Given the description of an element on the screen output the (x, y) to click on. 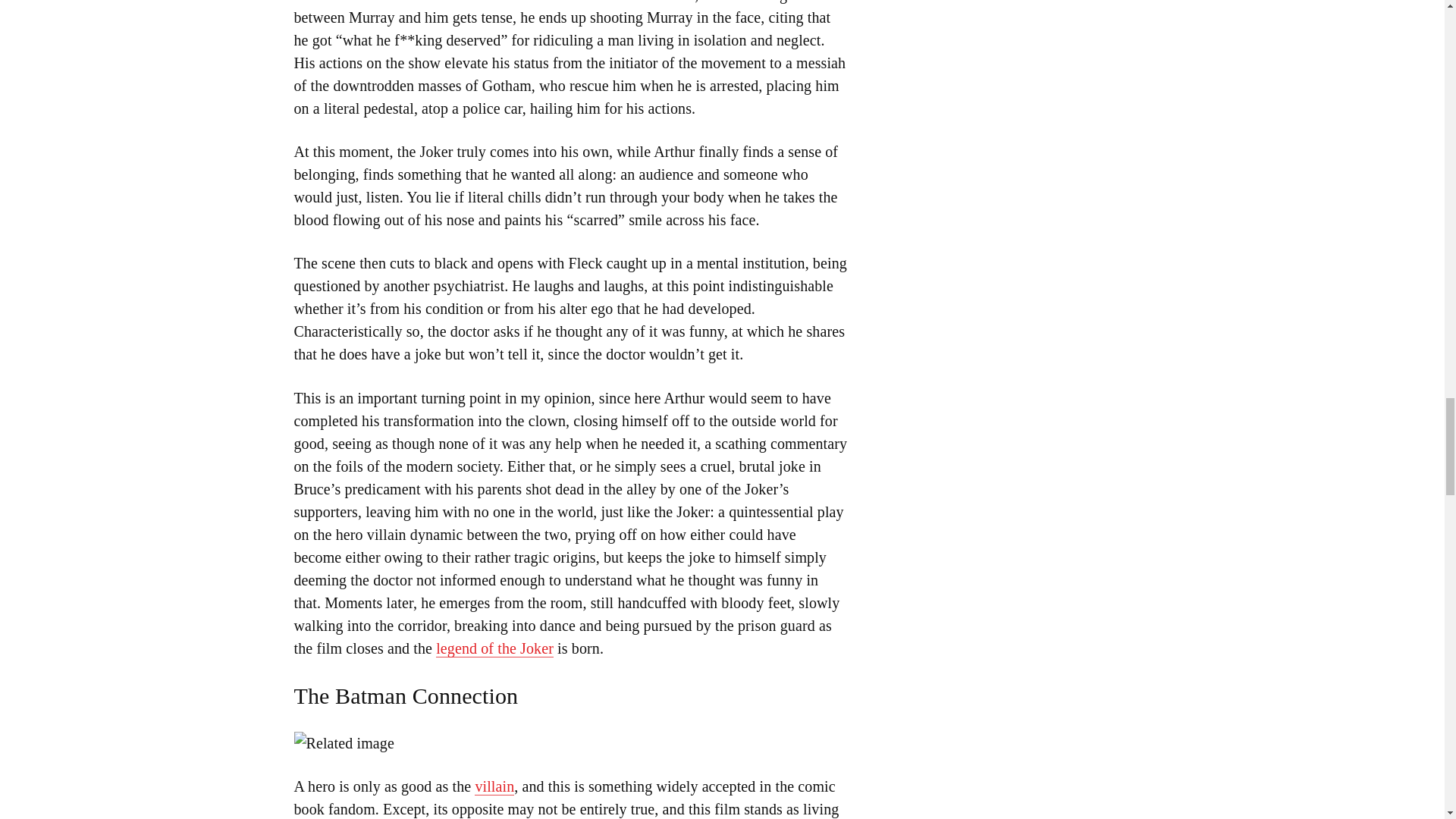
legend of the Joker (494, 648)
villain (493, 786)
